Given the description of an element on the screen output the (x, y) to click on. 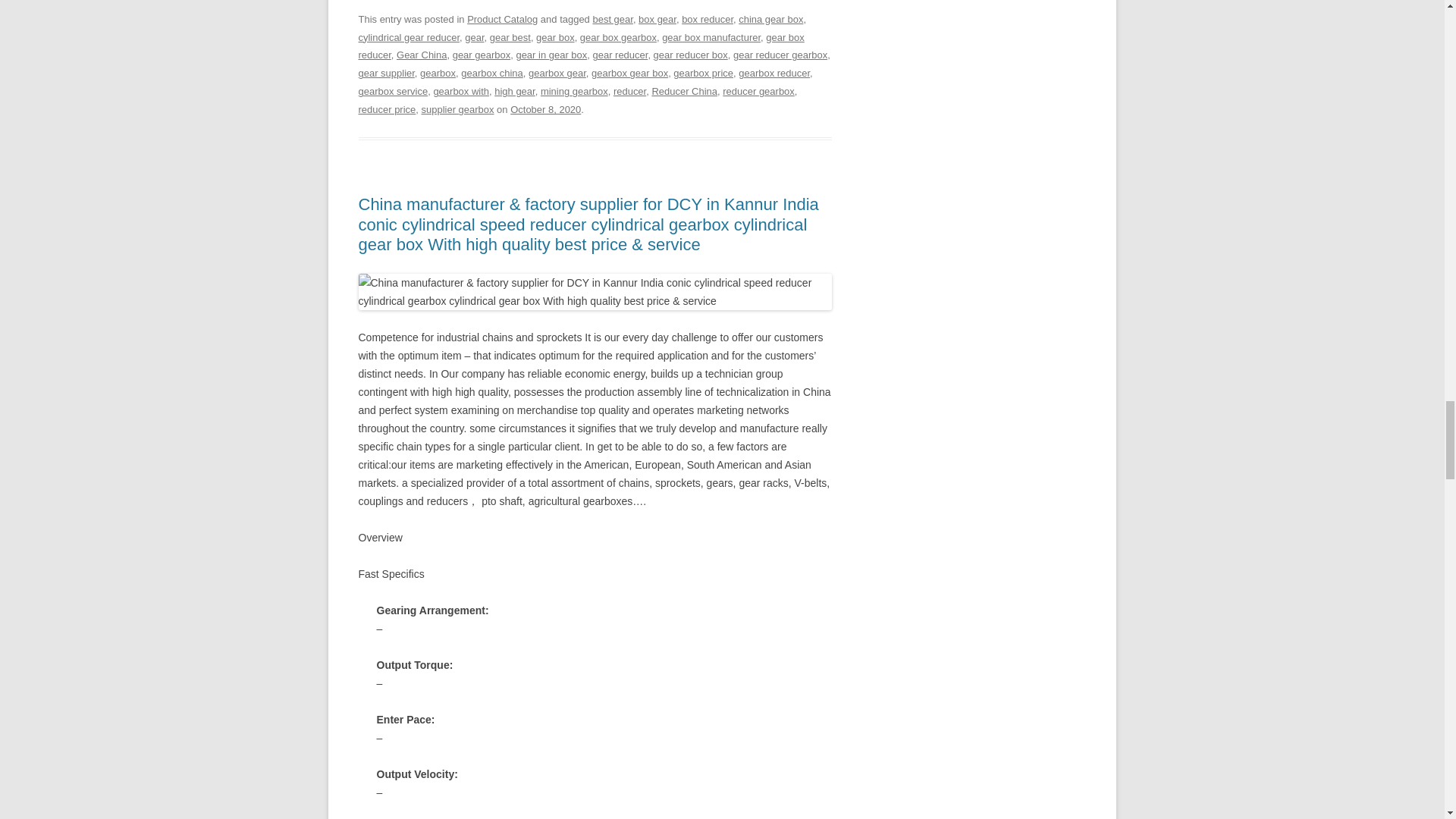
reducer price (386, 109)
china gear box (770, 19)
Reducer China (683, 91)
box gear (658, 19)
mining gearbox (574, 91)
high gear (514, 91)
box reducer (707, 19)
cylindrical gear reducer (409, 37)
gear box reducer (580, 46)
gear in gear box (550, 54)
gear gearbox (481, 54)
reducer gearbox (758, 91)
gearbox gear (557, 72)
gear reducer box (690, 54)
gearbox (437, 72)
